Given the description of an element on the screen output the (x, y) to click on. 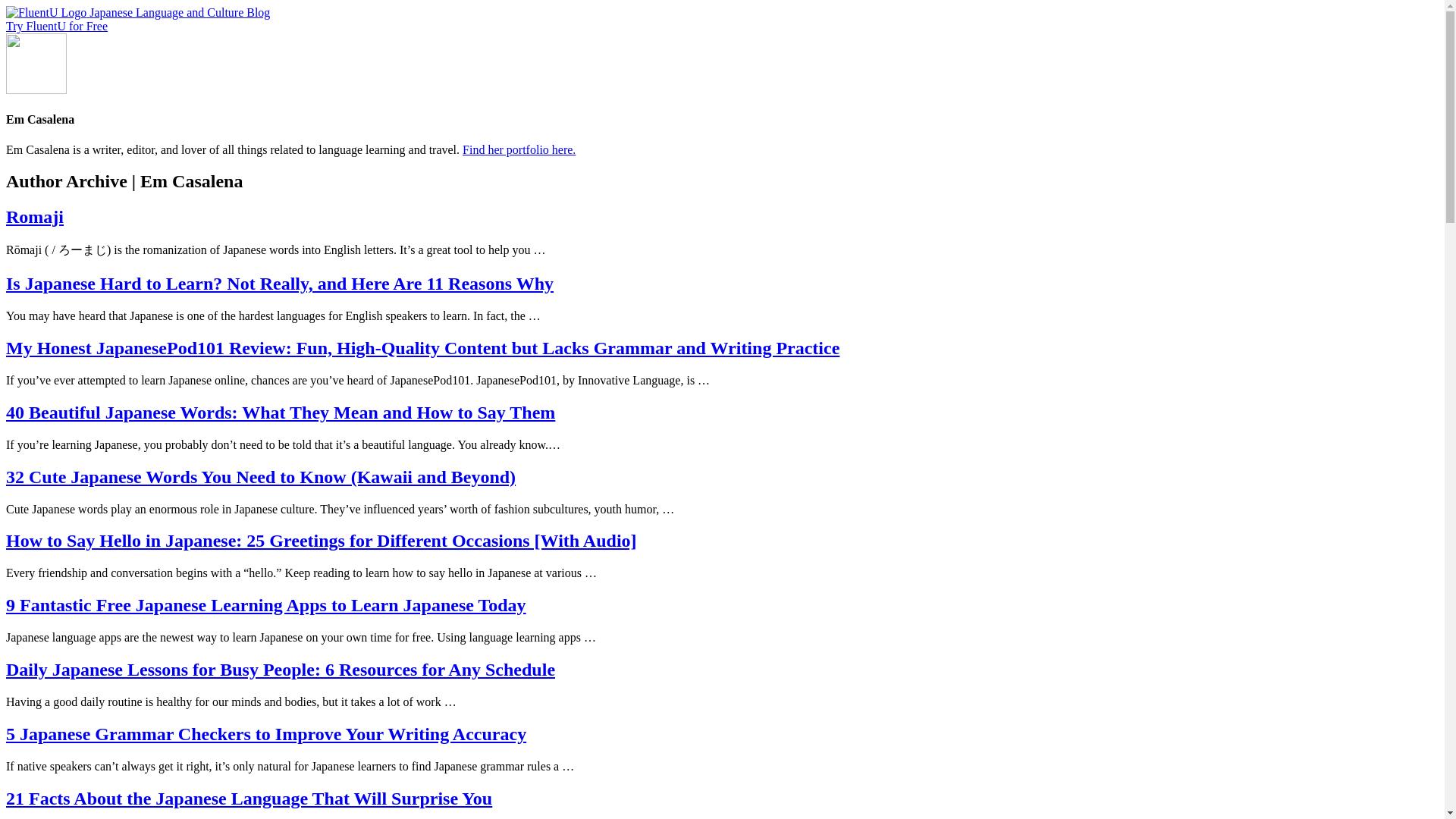
Try FluentU for Free (56, 25)
Romaji (34, 216)
5 Japanese Grammar Checkers to Improve Your Writing Accuracy (265, 733)
21 Facts About the Japanese Language That Will Surprise You (248, 798)
To homepage (46, 11)
Japanese Language and Culture Blog (178, 11)
Find her portfolio here. (519, 149)
